Given the description of an element on the screen output the (x, y) to click on. 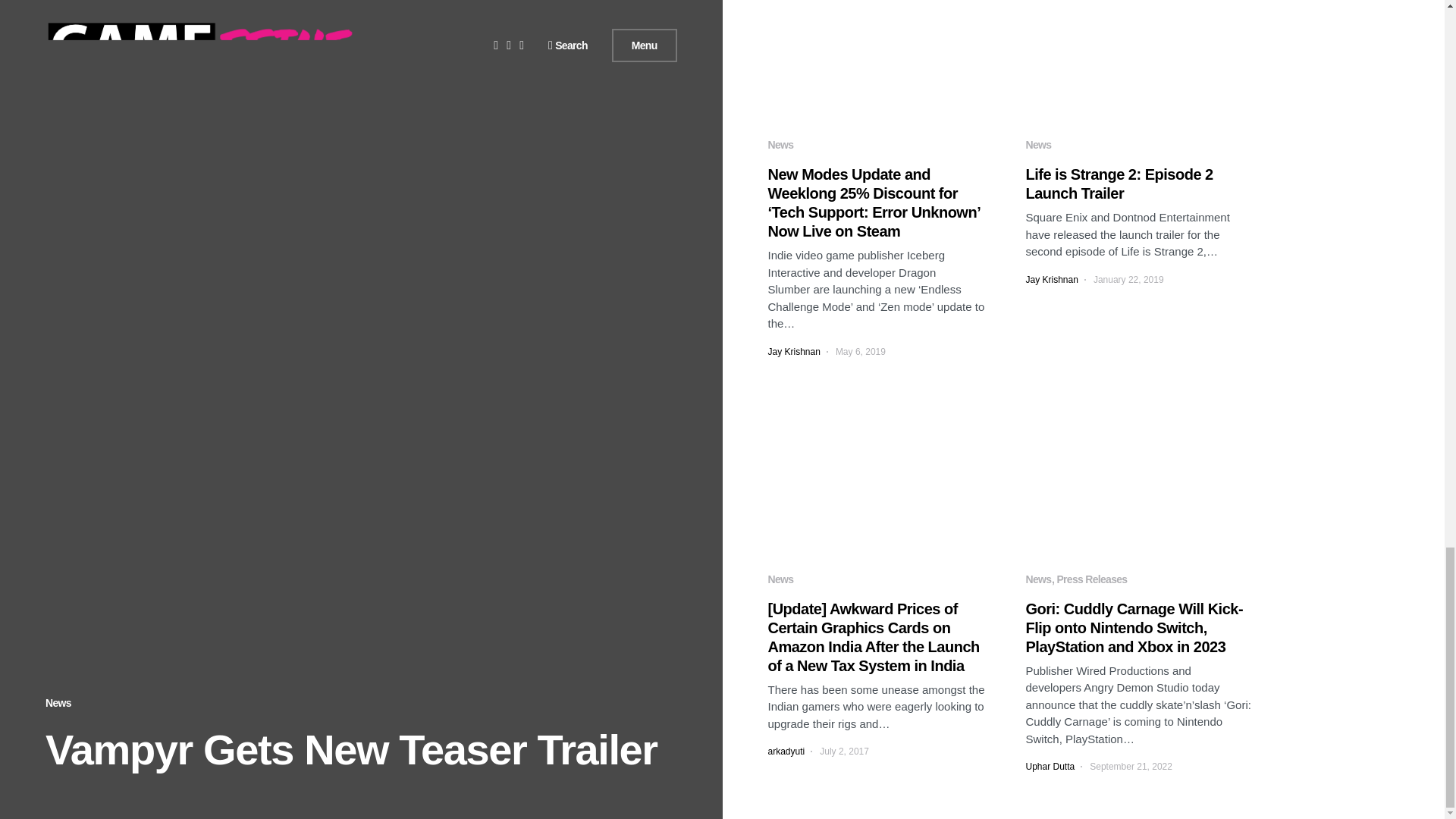
View all posts by Jay Krishnan (793, 351)
View all posts by Jay Krishnan (1051, 279)
View all posts by arkadyuti (786, 751)
View all posts by Uphar Dutta (1049, 766)
